Given the description of an element on the screen output the (x, y) to click on. 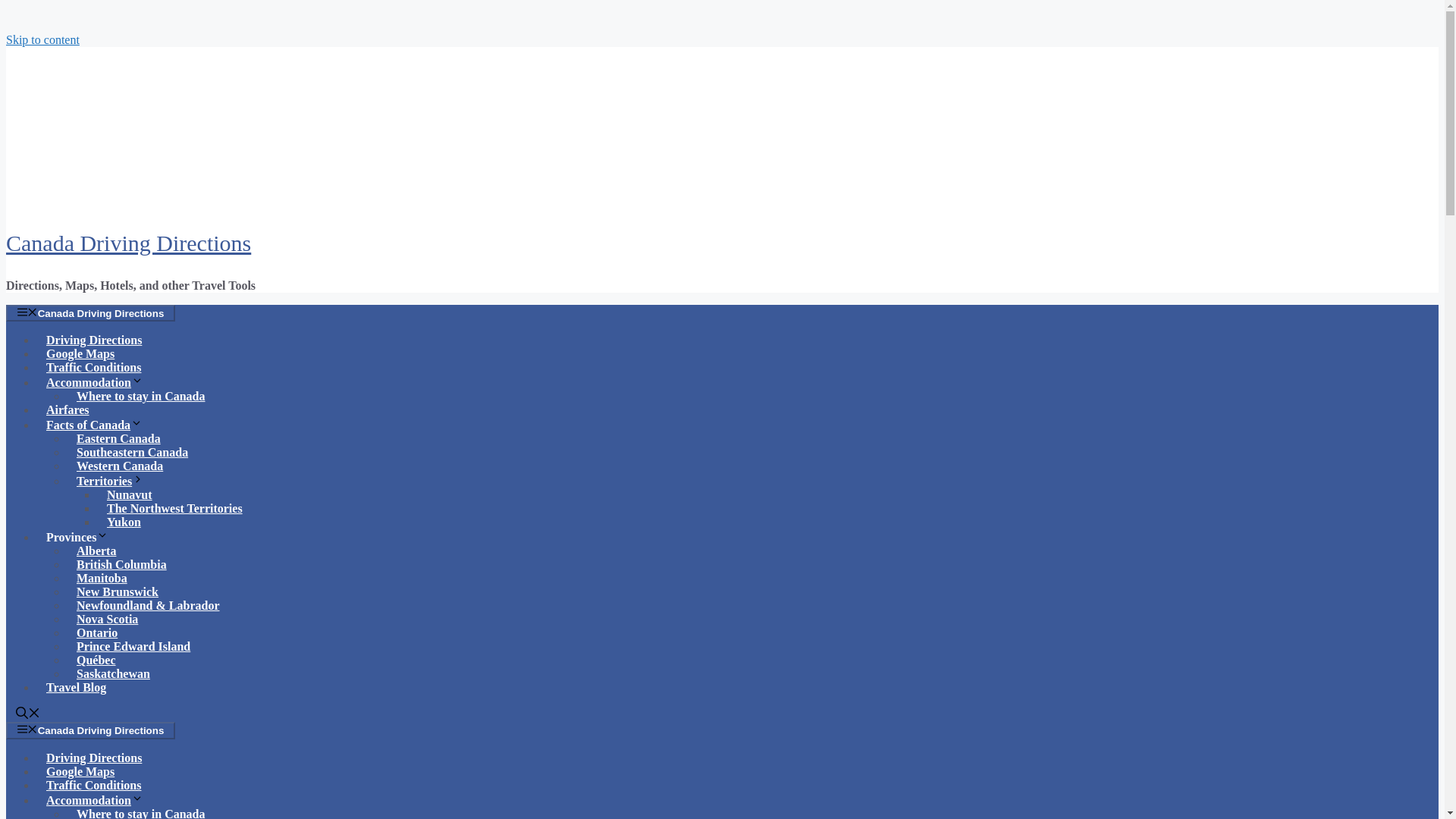
British Columbia (121, 564)
Accommodation (99, 382)
Driving Directions (93, 339)
Canada Driving Directions (89, 312)
Skip to content (42, 39)
Traffic Conditions (93, 784)
Travel Blog (76, 686)
Western provinces of Canada (119, 465)
Nova Scotia (107, 619)
Driving Directions, Street View (79, 353)
Canada Driving Directions (89, 729)
Exploring Canada (76, 686)
Canada Driving Directions (127, 242)
Google Maps (79, 353)
Route Planner (93, 339)
